Given the description of an element on the screen output the (x, y) to click on. 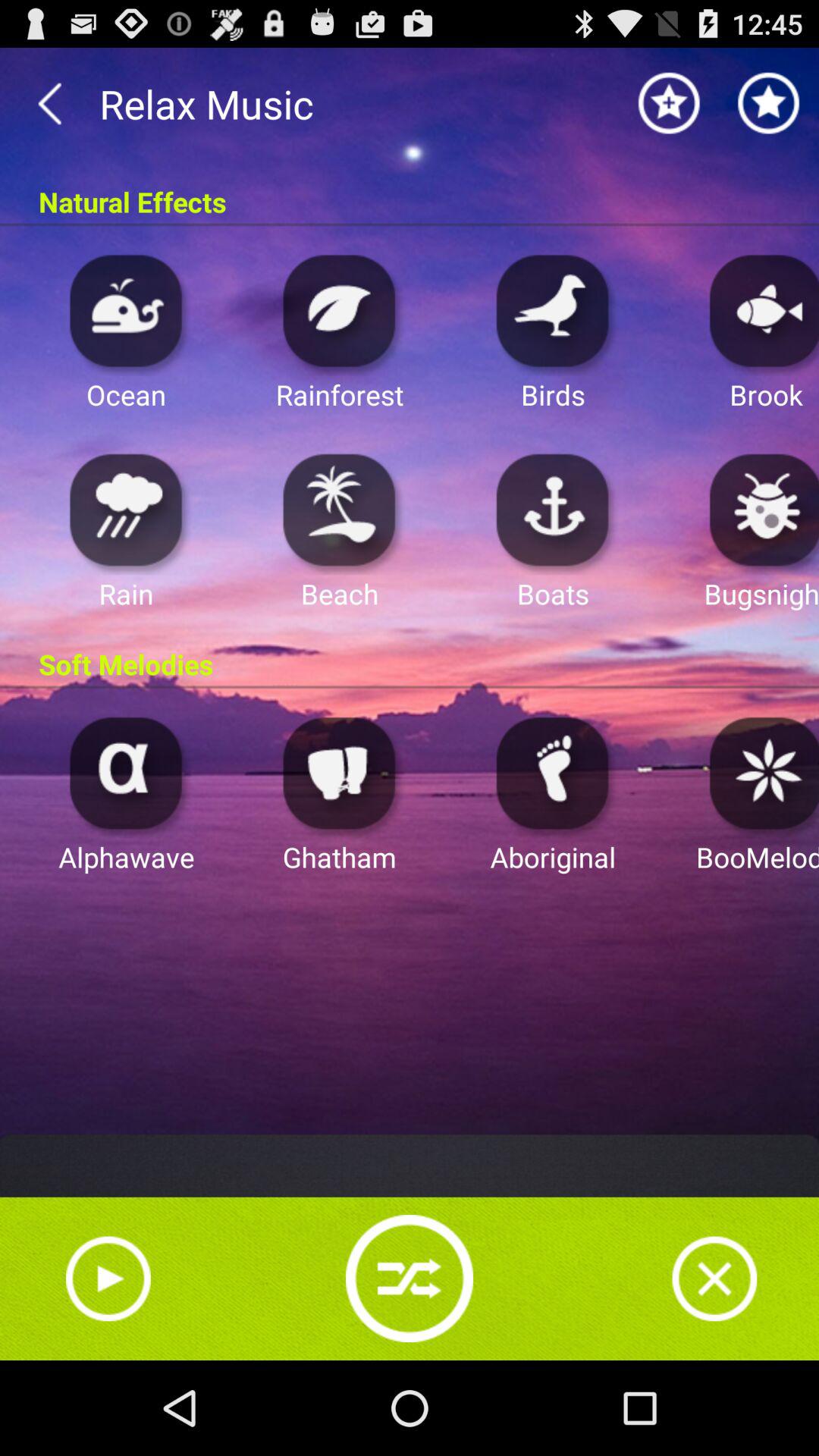
play the musical effect (126, 509)
